Given the description of an element on the screen output the (x, y) to click on. 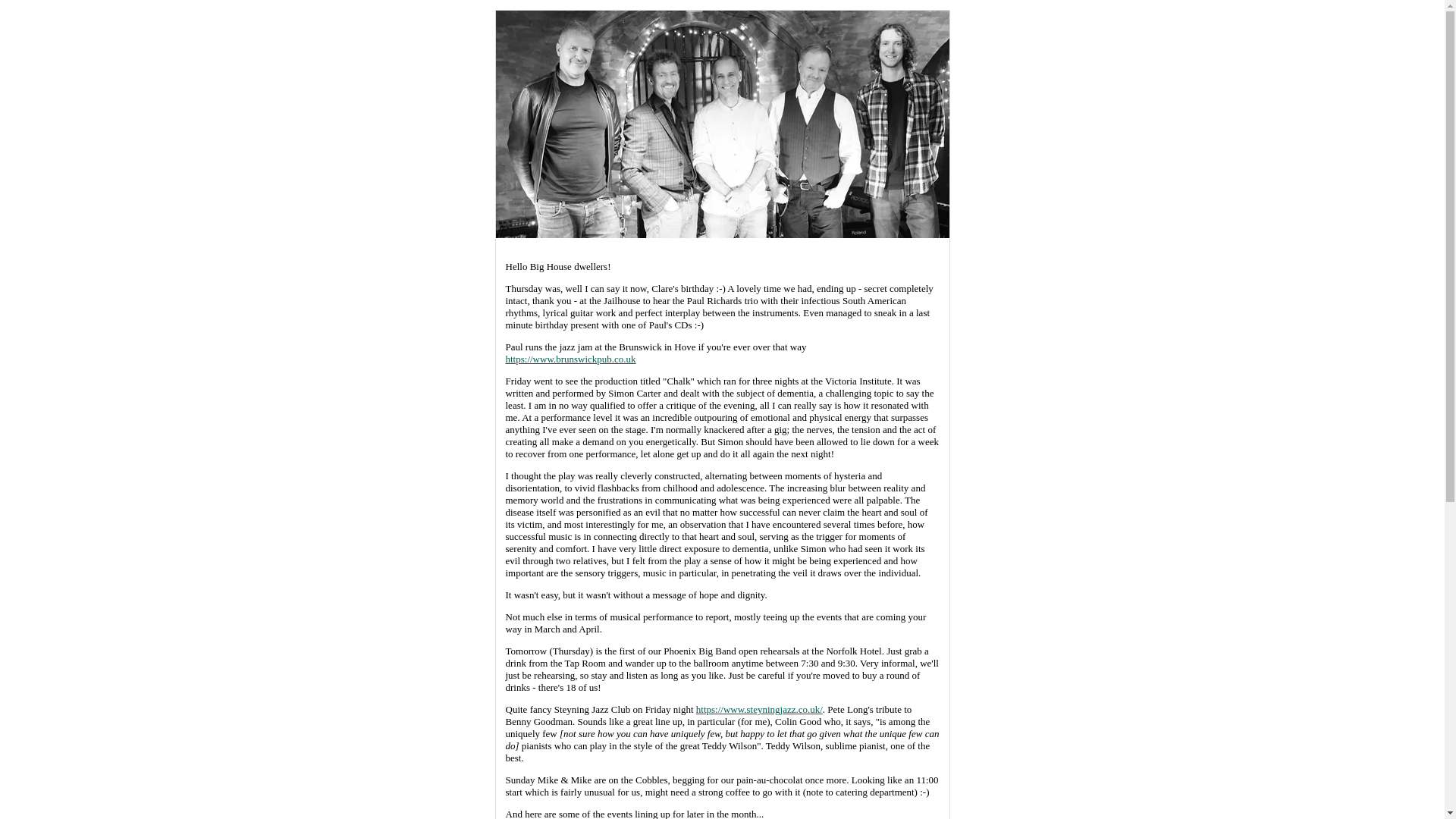
https://www.steyningjazz.co.uk/ Element type: text (759, 709)
https://www.brunswickpub.co.uk Element type: text (570, 358)
